Given the description of an element on the screen output the (x, y) to click on. 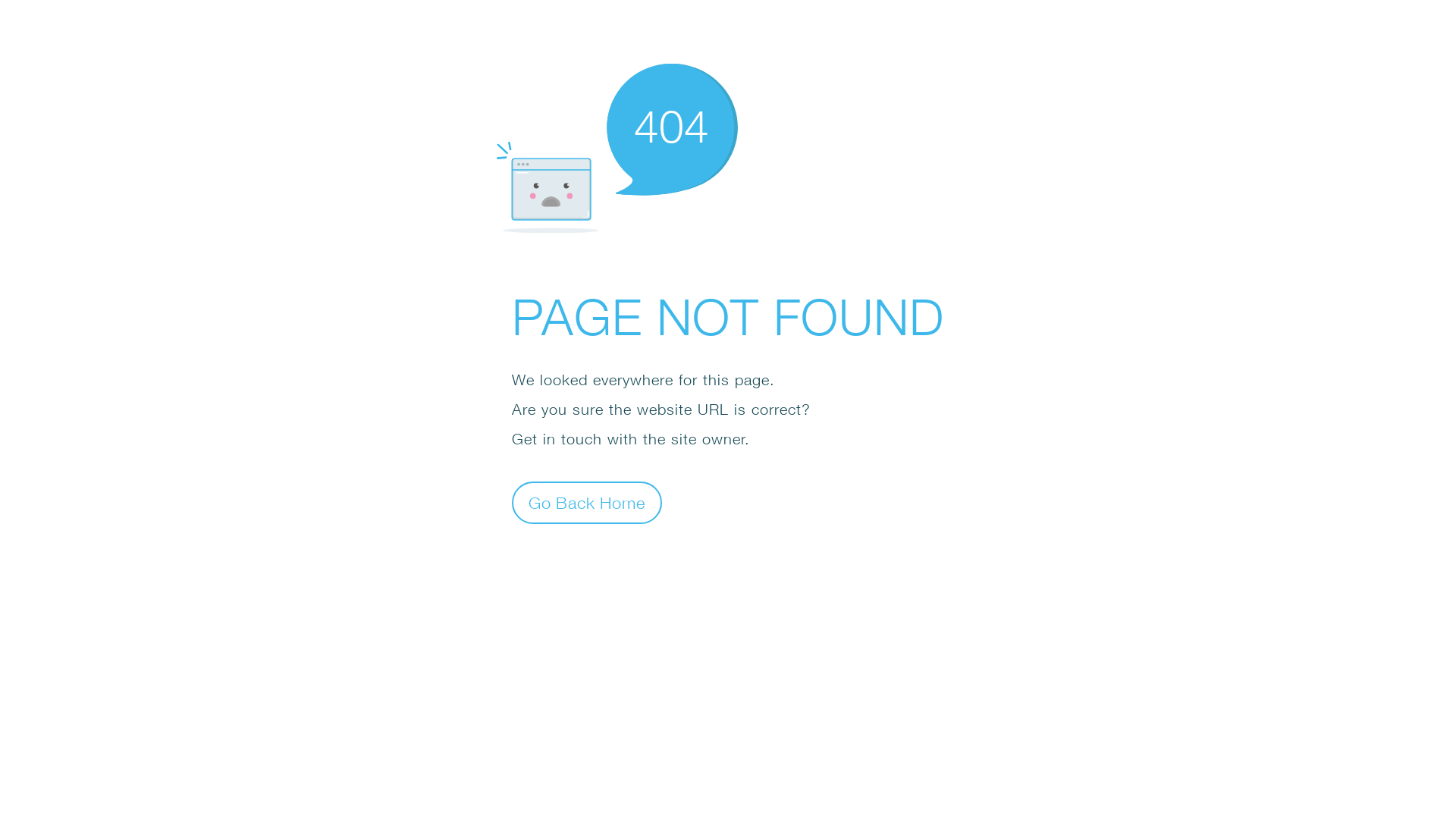
Go Back Home Element type: text (586, 502)
